Given the description of an element on the screen output the (x, y) to click on. 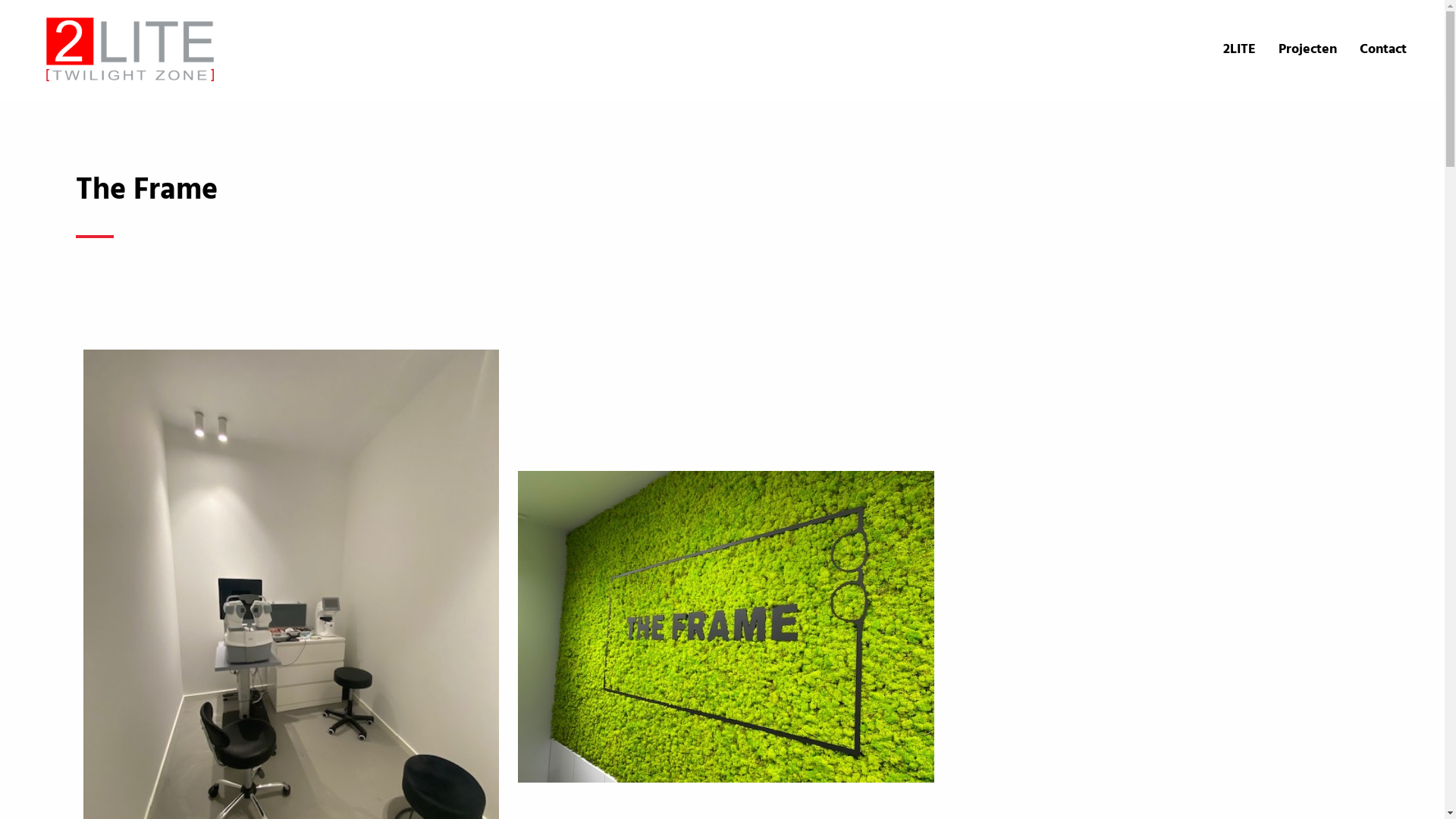
Projecten Element type: text (1307, 49)
Contact Element type: text (1382, 49)
2LITE Element type: text (1239, 49)
